Given the description of an element on the screen output the (x, y) to click on. 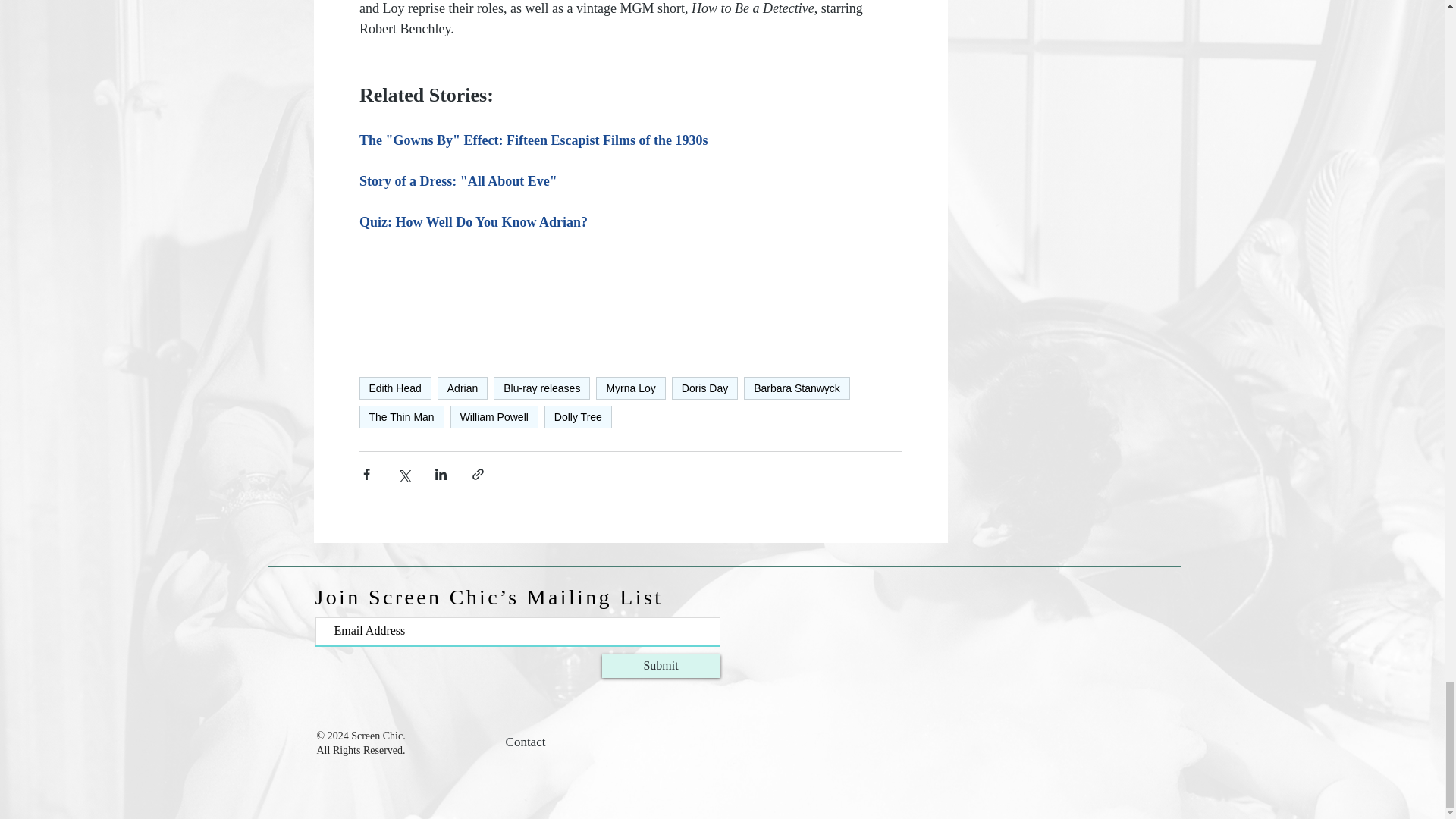
Story of a Dress: "All About Eve" (458, 181)
William Powell (493, 416)
Myrna Loy (630, 387)
Barbara Stanwyck (797, 387)
Edith Head (394, 387)
Quiz: How Well Do You Know Adrian? (473, 222)
The Thin Man (401, 416)
Doris Day (704, 387)
Blu-ray releases (541, 387)
Dolly Tree (577, 416)
Adrian (462, 387)
The "Gowns By" Effect: Fifteen Escapist Films of the 1930s (533, 140)
